Given the description of an element on the screen output the (x, y) to click on. 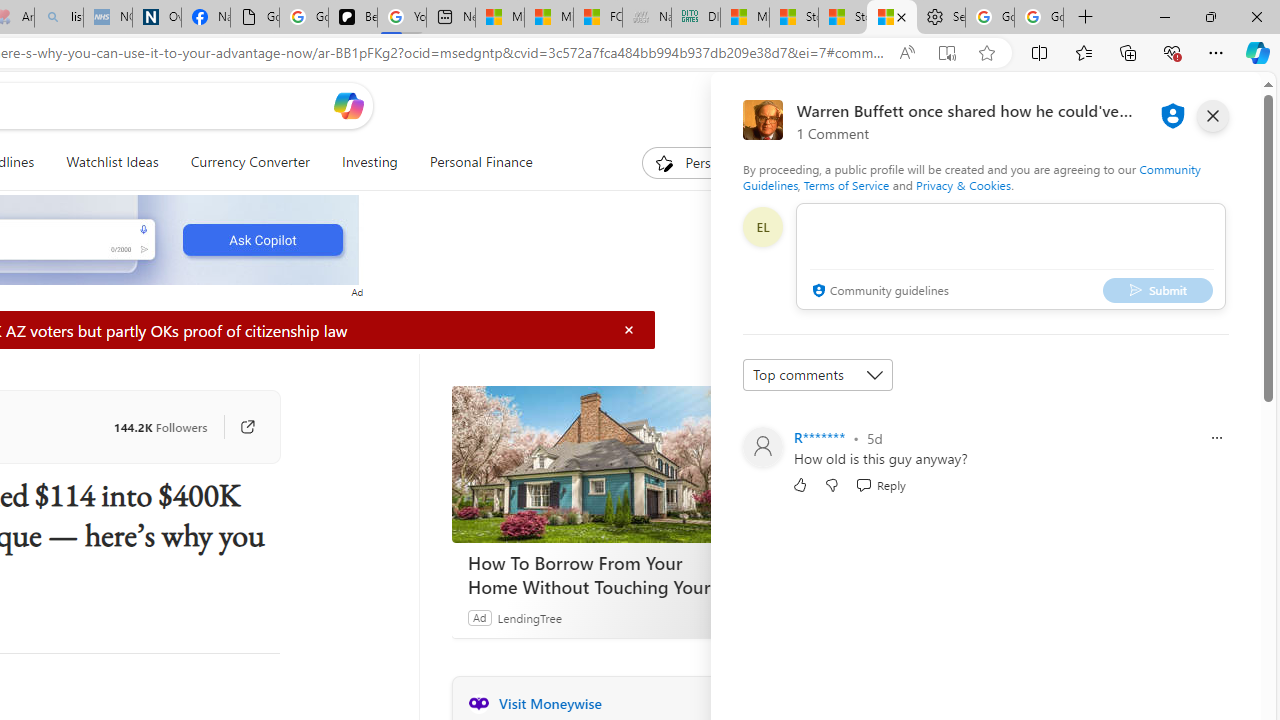
Personalize (703, 162)
Enter Immersive Reader (F9) (946, 53)
Sort comments by (817, 374)
Investing (369, 162)
LendingTree (528, 617)
Watchlist Ideas (112, 162)
Watchlist Ideas (112, 162)
Open Copilot (347, 105)
Terms of Service (846, 184)
Open Copilot (347, 105)
